Given the description of an element on the screen output the (x, y) to click on. 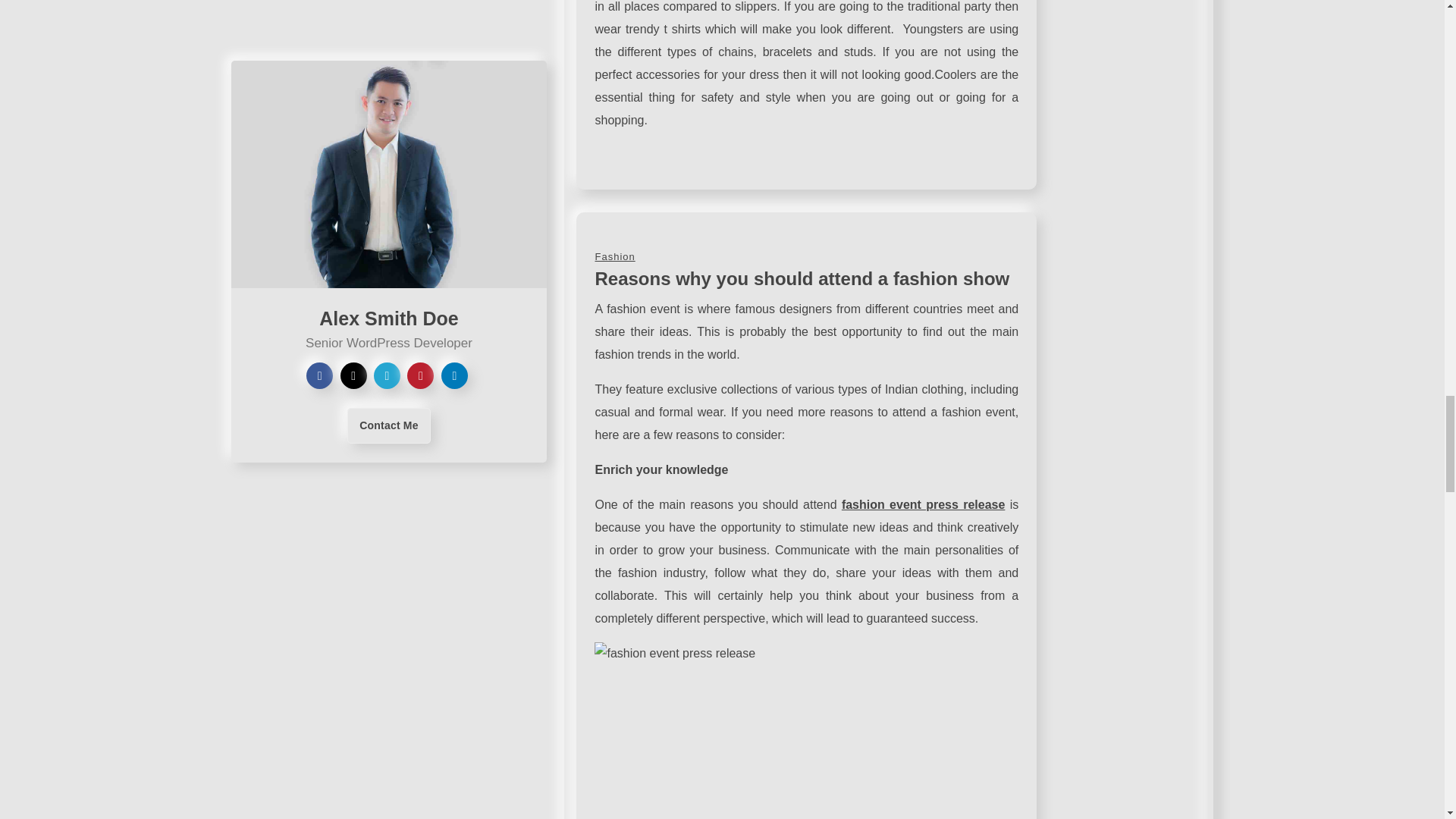
Reasons why you should attend a fashion show (801, 278)
Fashion (614, 256)
fashion event press release (923, 504)
